Given the description of an element on the screen output the (x, y) to click on. 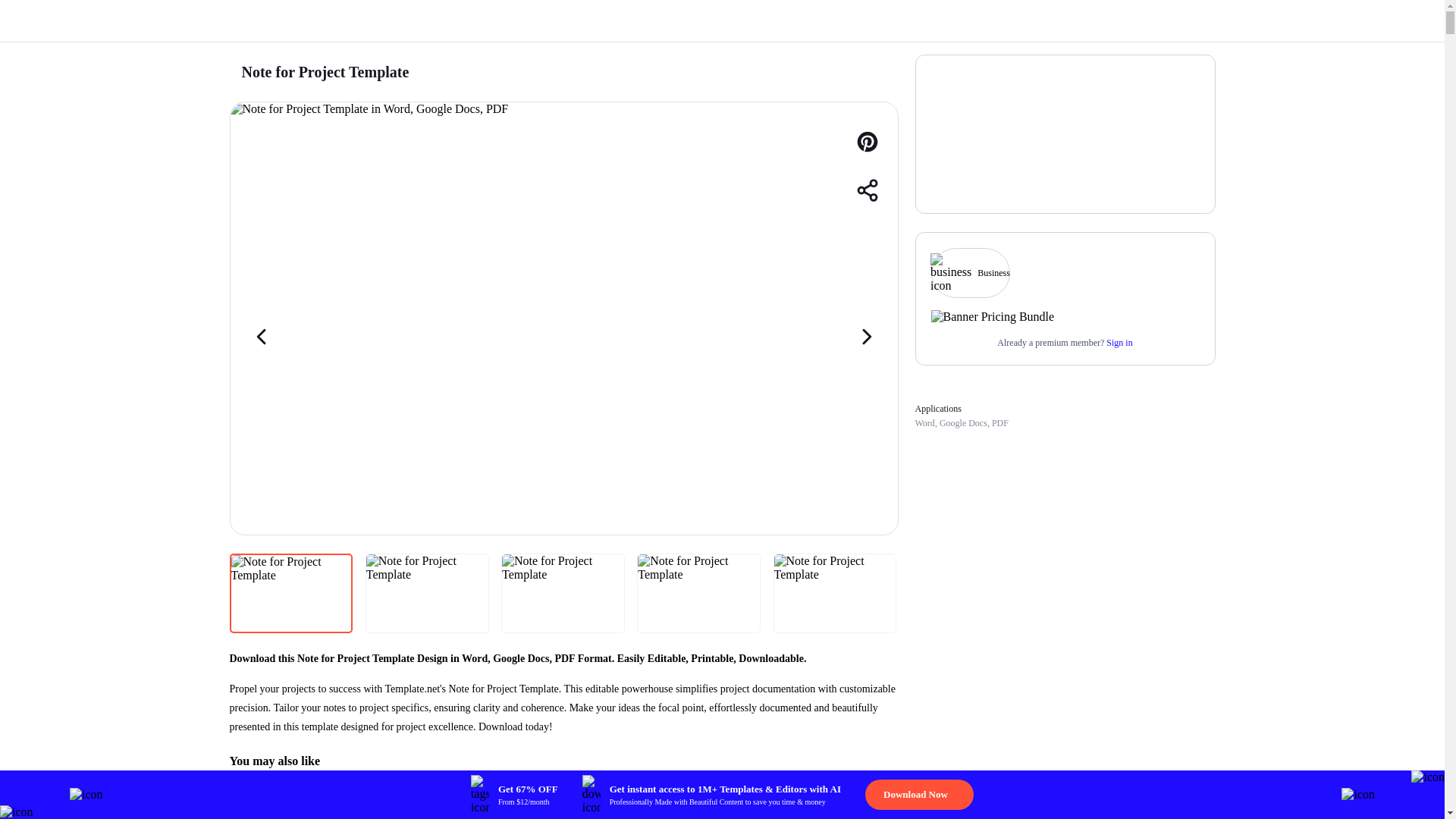
, PDF (998, 422)
Word (924, 422)
Banner Pricing Bundle (992, 316)
, Google Docs (960, 422)
